Given the description of an element on the screen output the (x, y) to click on. 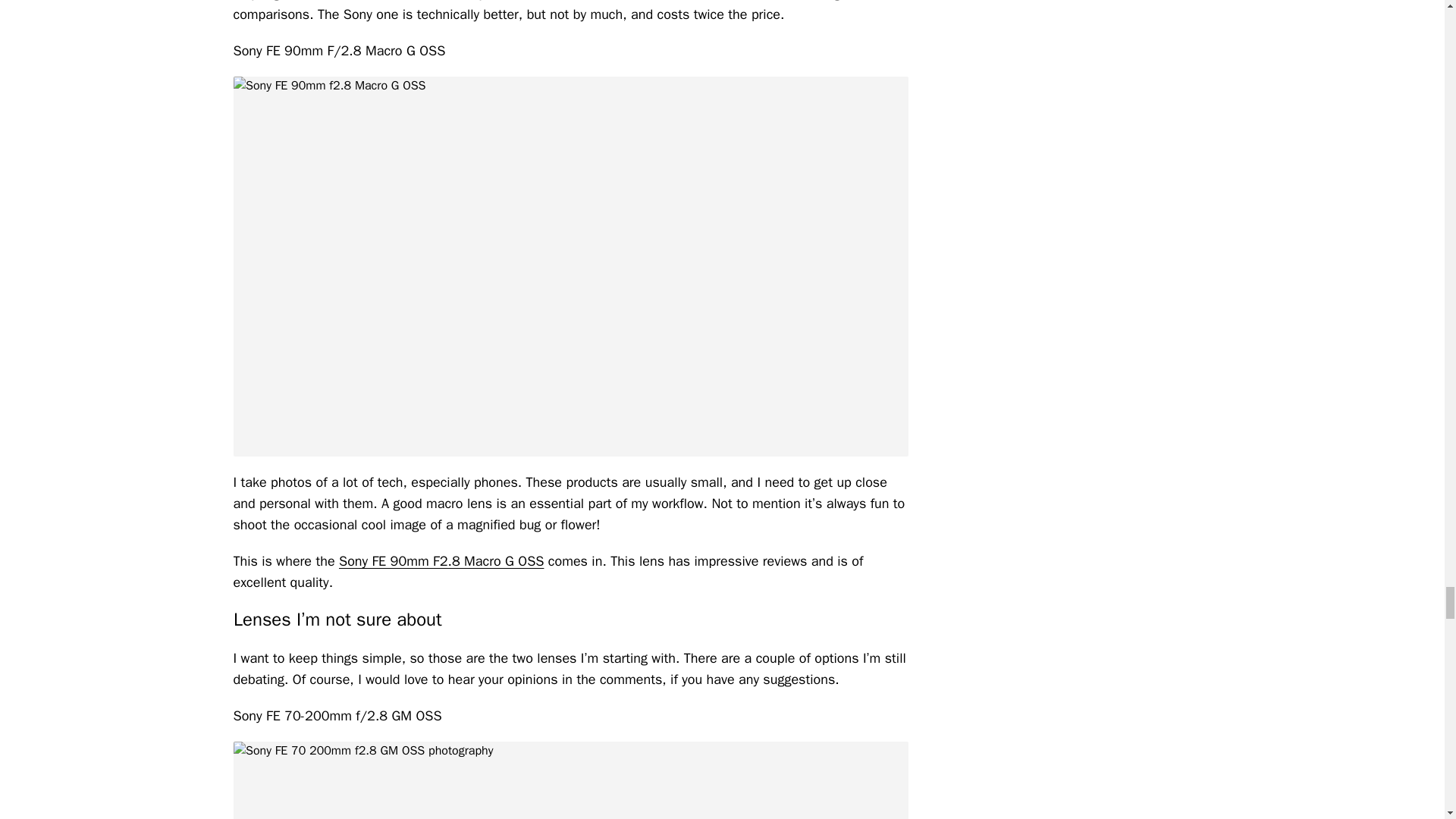
Sony FE 70 200mm f2.8 GM OSS (570, 780)
Sony FE 90mm F2.8 Macro G OSS (441, 560)
